Given the description of an element on the screen output the (x, y) to click on. 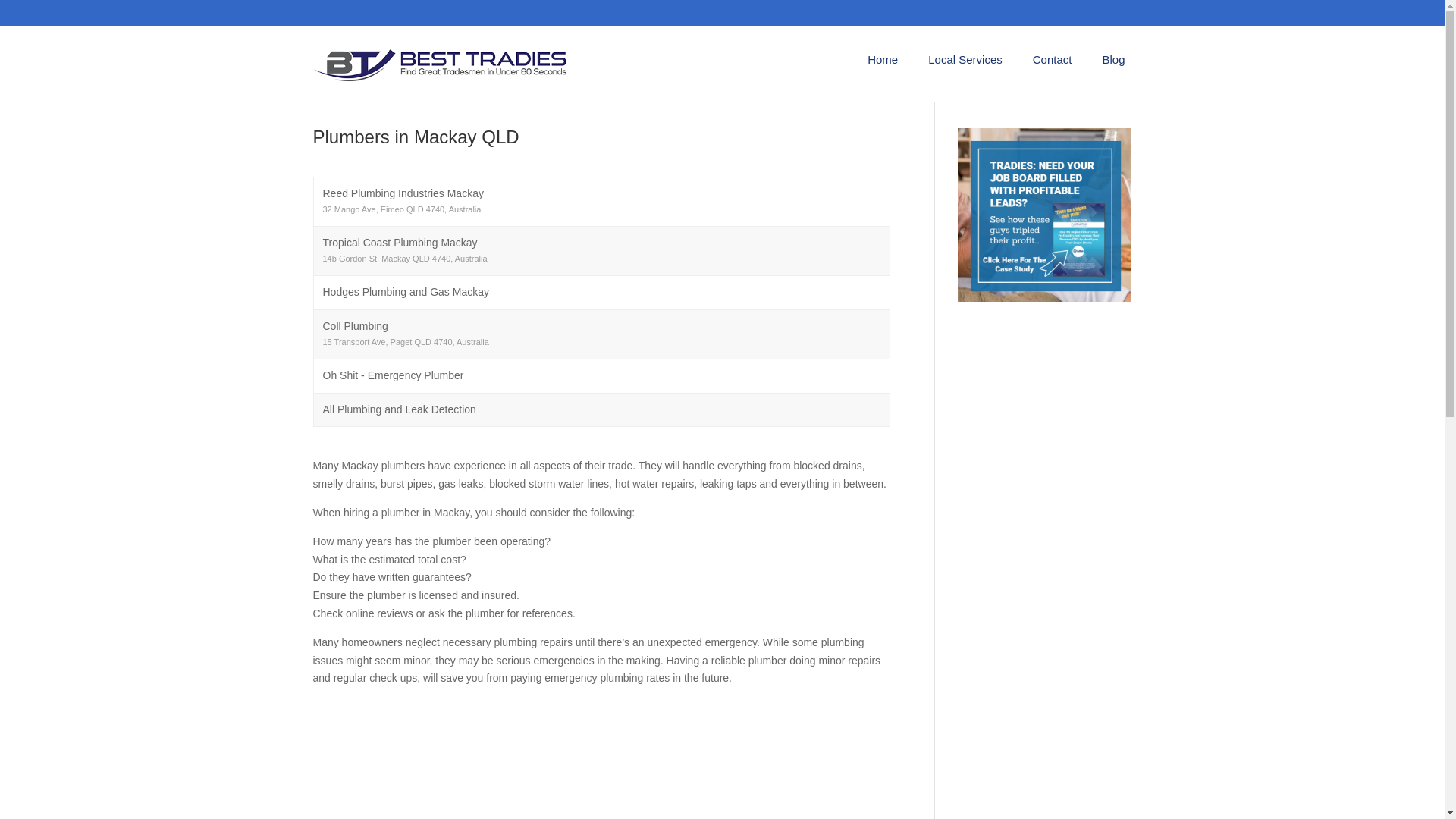
Blog (1113, 62)
logo (441, 63)
Home (882, 62)
Local Services (965, 62)
Contact (1051, 62)
